Given the description of an element on the screen output the (x, y) to click on. 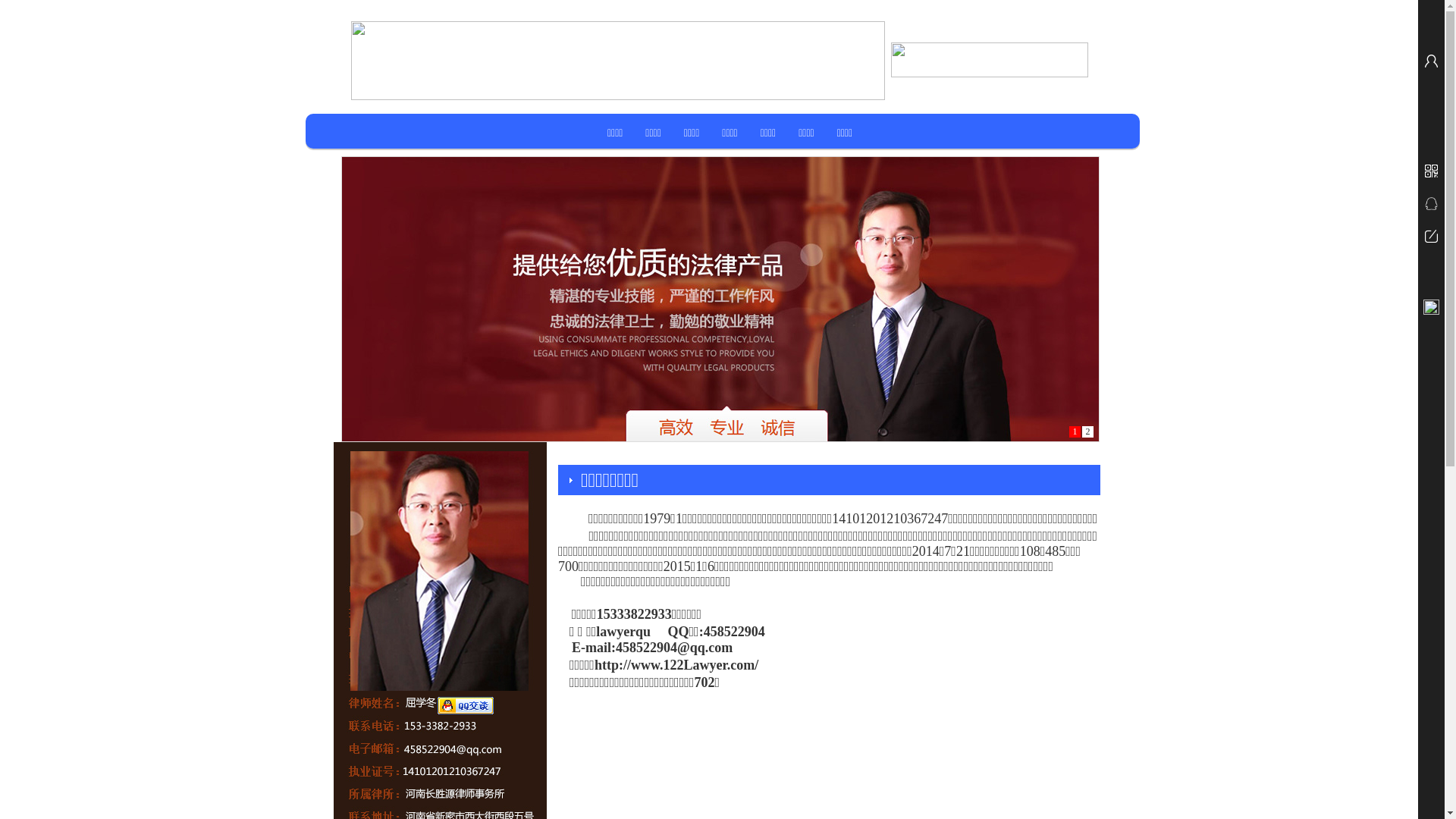
http://www.122Lawyer.com/ Element type: text (676, 666)
